Given the description of an element on the screen output the (x, y) to click on. 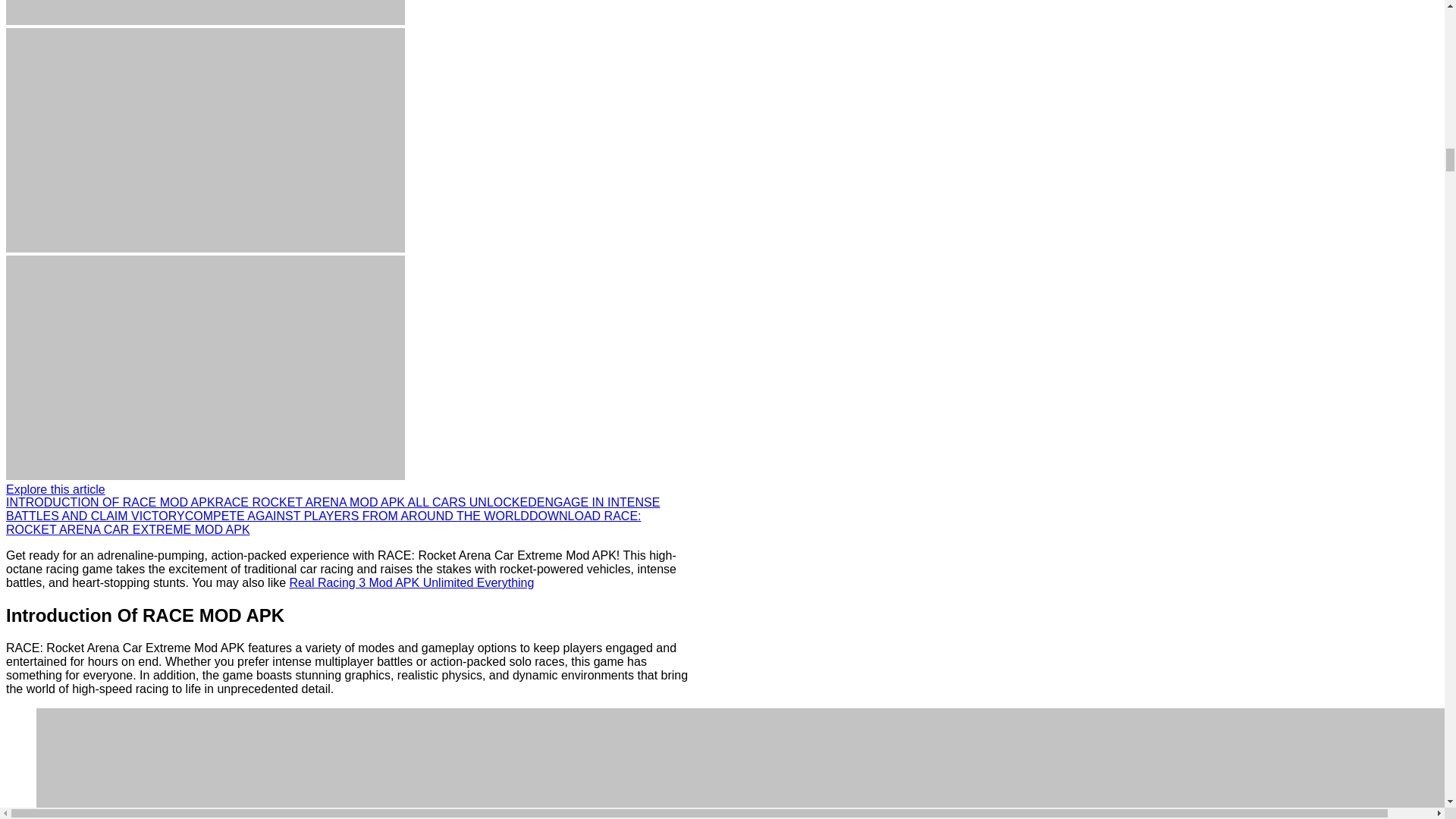
Real Racing 3 Mod APK Unlimited Everything (411, 582)
RACE ROCKET ARENA MOD APK ALL CARS UNLOCKED (376, 502)
Explore this article (54, 489)
ENGAGE IN INTENSE BATTLES AND CLAIM VICTORY (332, 509)
COMPETE AGAINST PLAYERS FROM AROUND THE WORLD (356, 515)
DOWNLOAD RACE: ROCKET ARENA CAR EXTREME MOD APK (323, 522)
INTRODUCTION OF RACE MOD APK (110, 502)
